Given the description of an element on the screen output the (x, y) to click on. 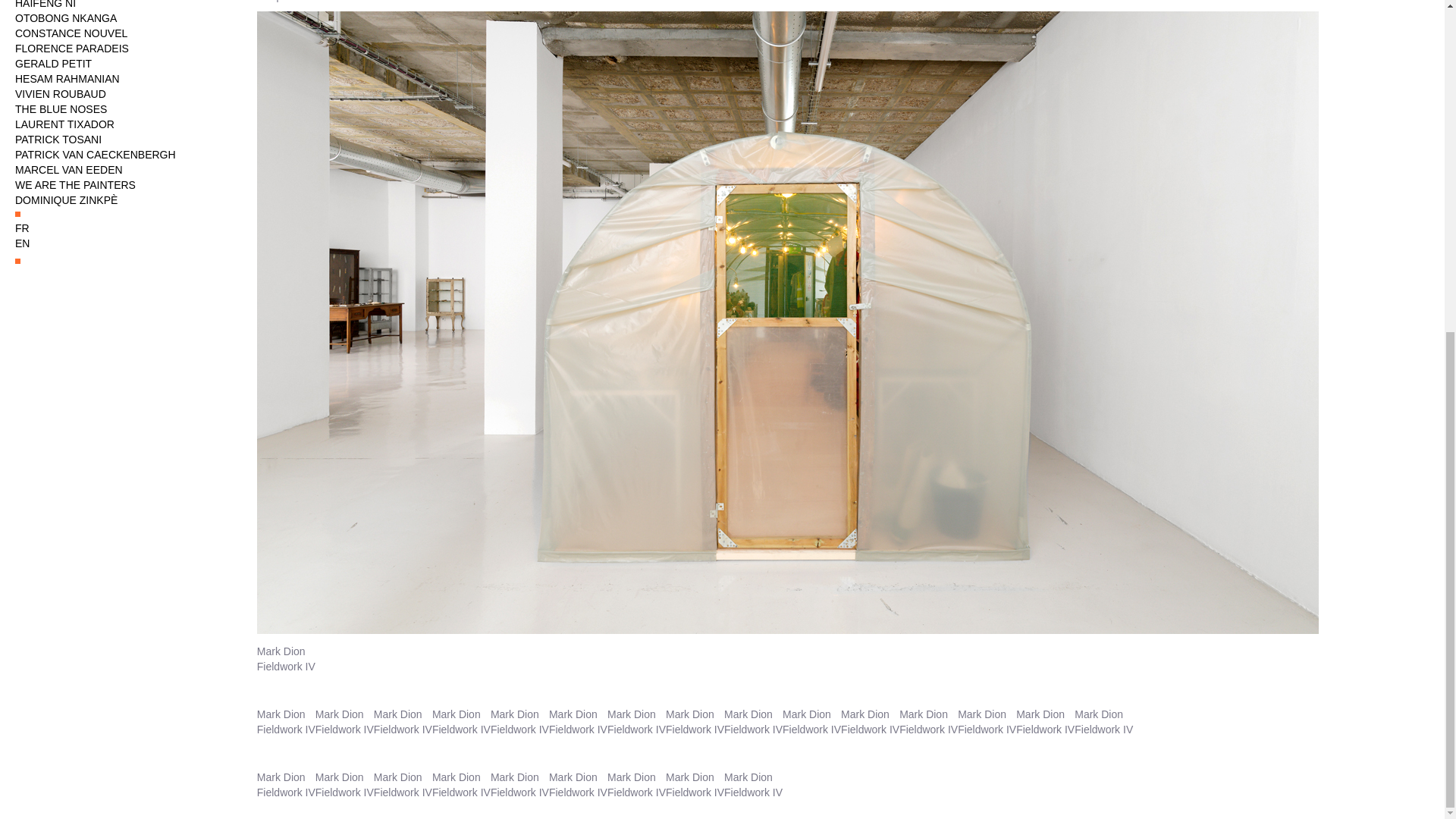
FR (21, 227)
HESAM RAHMANIAN (117, 78)
GERALD PETIT (117, 63)
LAURENT TIXADOR (117, 124)
WE ARE THE PAINTERS (117, 184)
MARCEL VAN EEDEN (117, 169)
THE BLUE NOSES (117, 109)
HAIFENG NI (117, 5)
PATRICK VAN CAECKENBERGH (117, 154)
PATRICK TOSANI (117, 139)
